Given the description of an element on the screen output the (x, y) to click on. 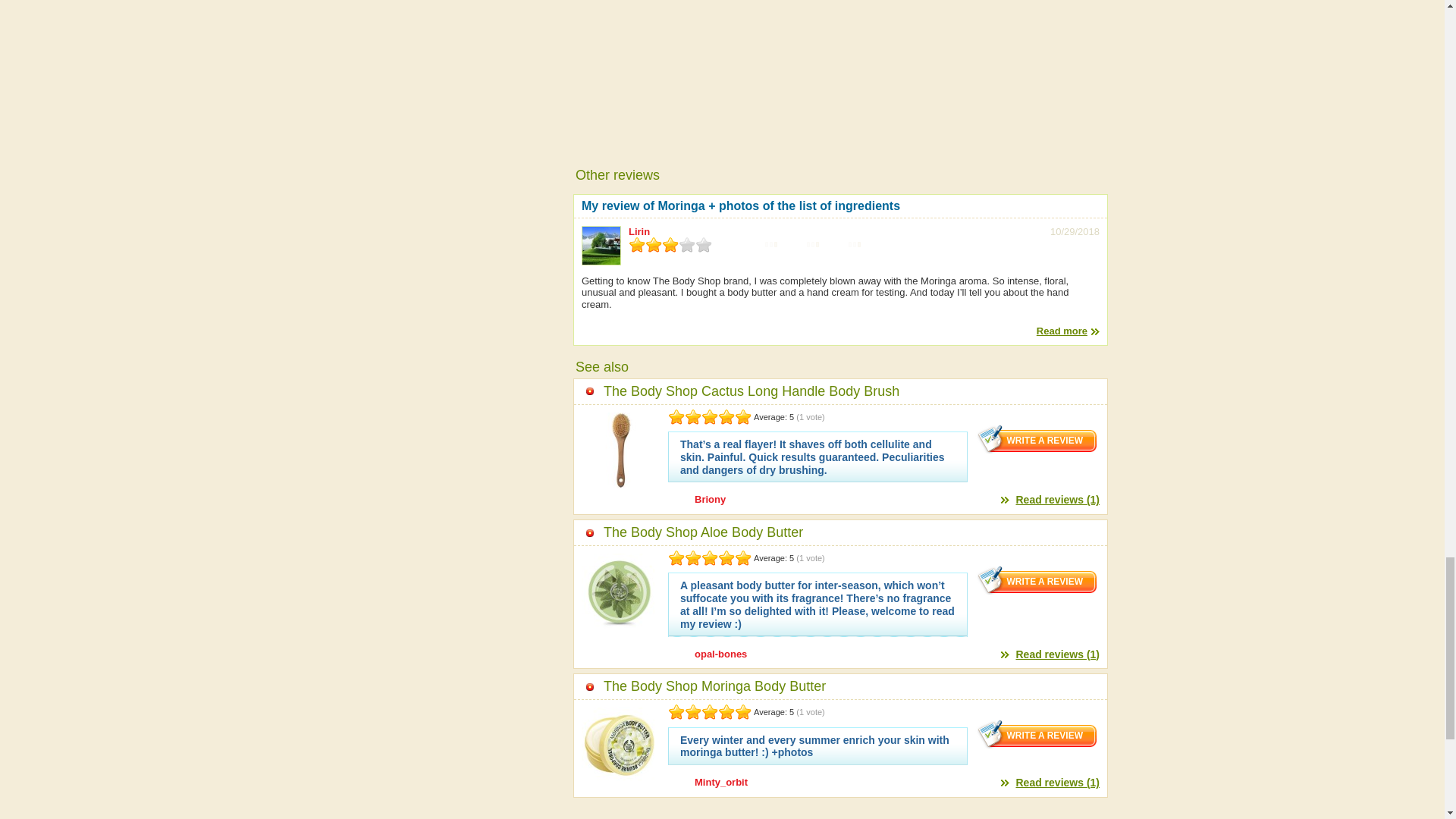
Advertisement (840, 66)
Write a review (1037, 439)
Write a review (1037, 579)
Lirin (638, 231)
Write a review (1037, 733)
